Given the description of an element on the screen output the (x, y) to click on. 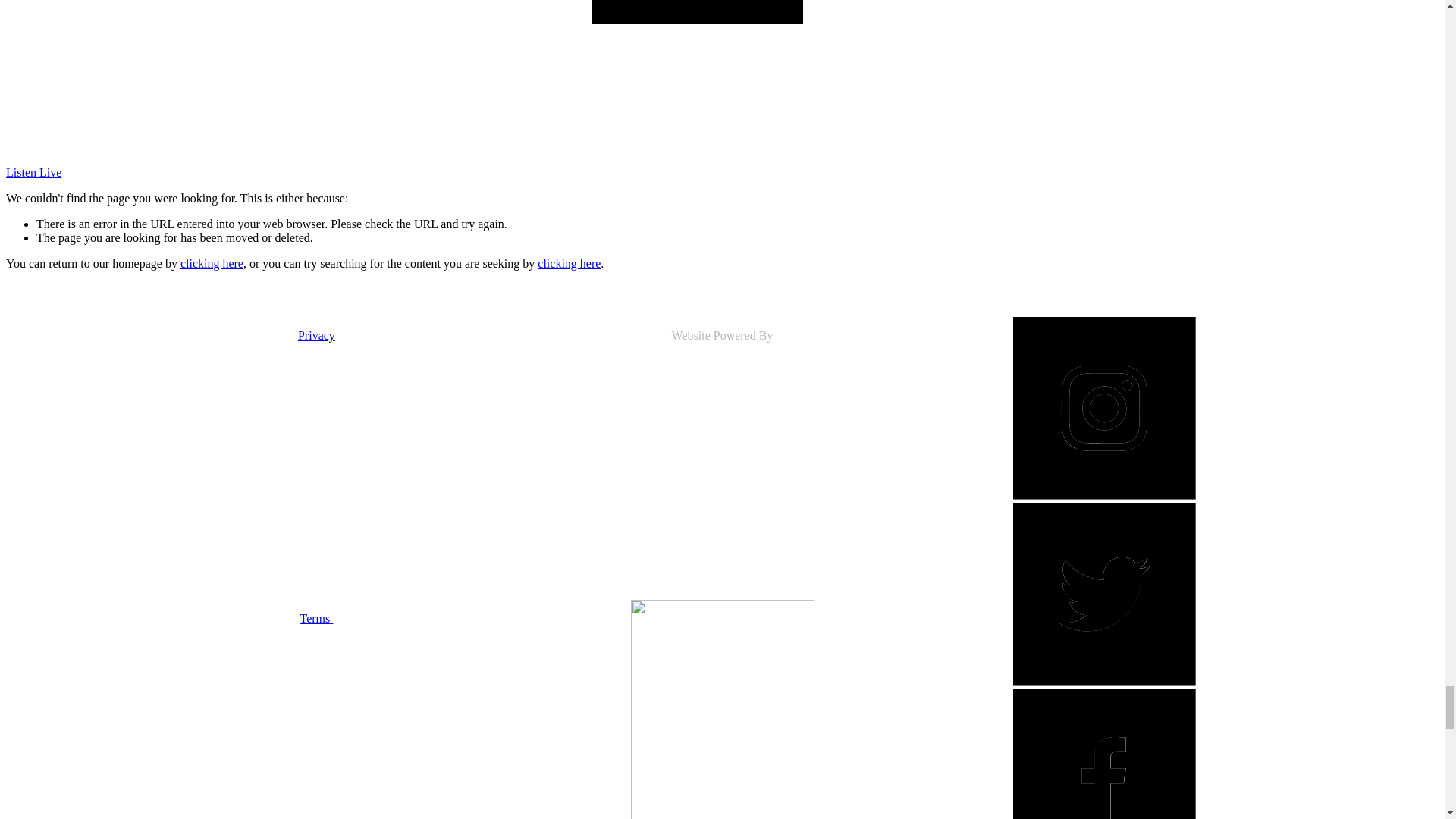
Listen Live (33, 172)
clicking here (568, 263)
clicking here (211, 263)
Privacy (316, 335)
